Given the description of an element on the screen output the (x, y) to click on. 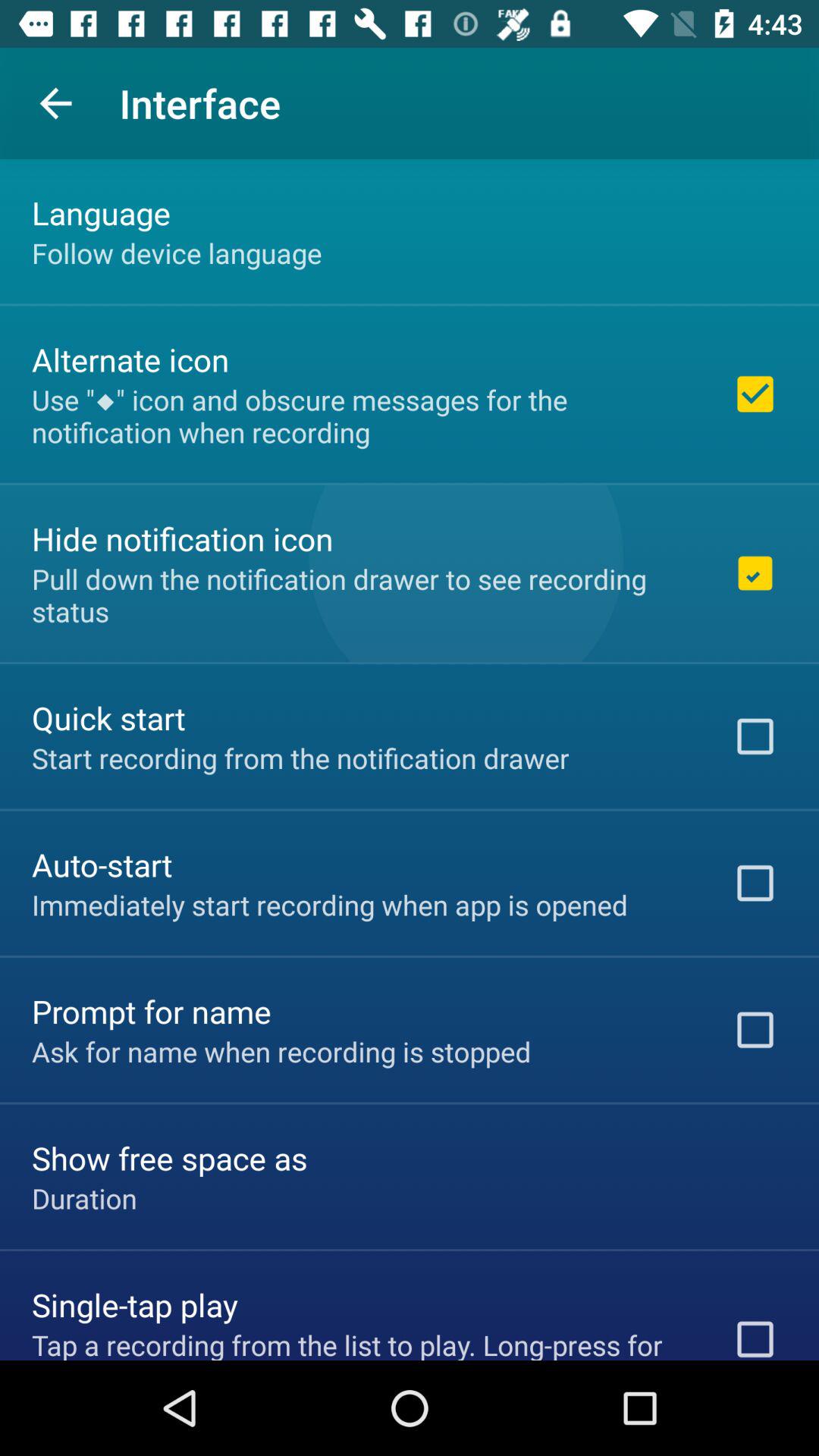
open the use icon and icon (361, 416)
